Given the description of an element on the screen output the (x, y) to click on. 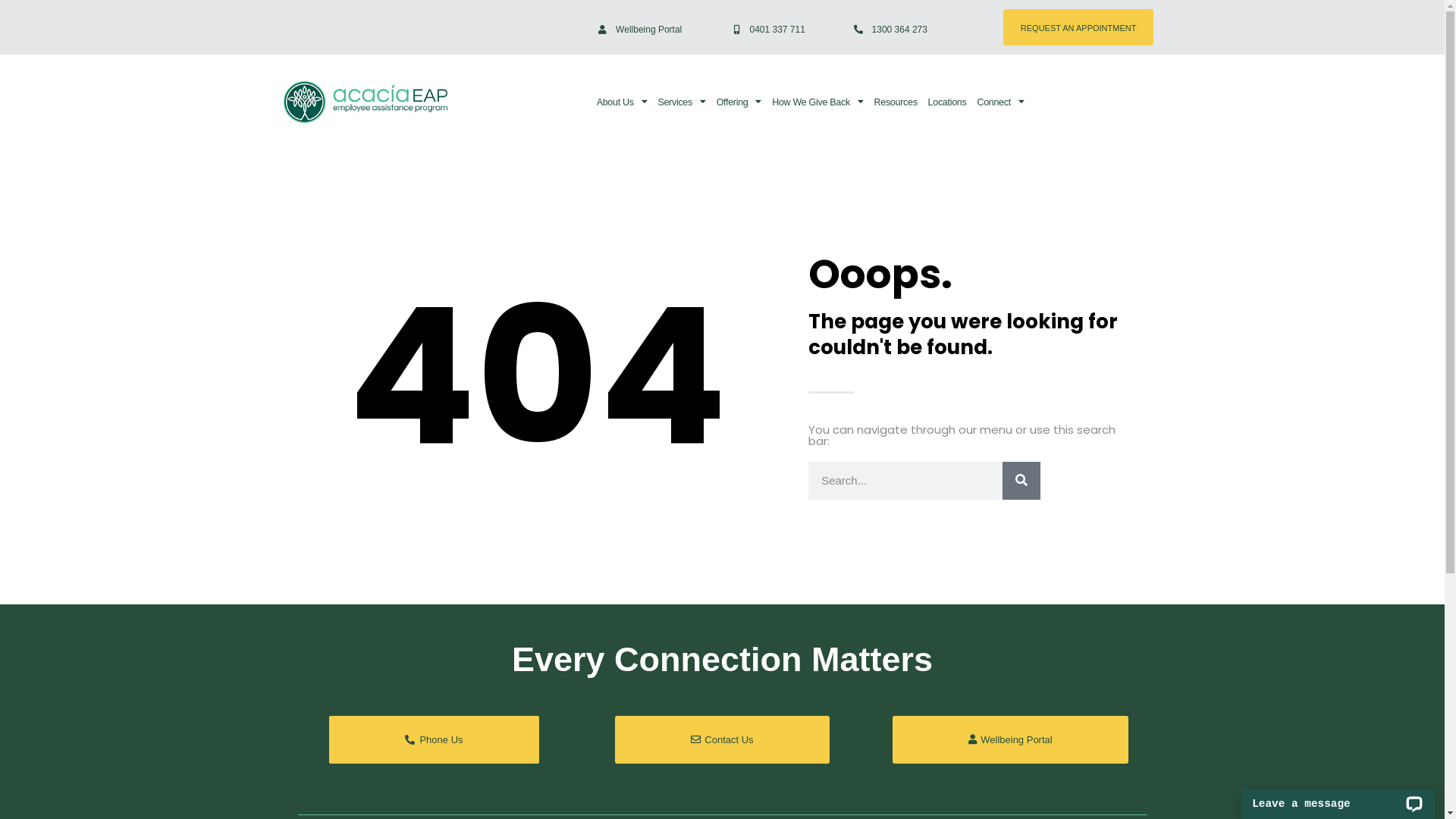
Phone Us Element type: text (433, 739)
About Us Element type: text (621, 101)
Resources Element type: text (895, 101)
Contact Us Element type: text (721, 739)
Offering Element type: text (739, 101)
1300 364 273 Element type: text (890, 27)
REQUEST AN APPOINTMENT Element type: text (1078, 27)
0401 337 711 Element type: text (769, 27)
How We Give Back Element type: text (817, 101)
Services Element type: text (681, 101)
Wellbeing Portal Element type: text (1009, 739)
Connect Element type: text (1000, 101)
Wellbeing Portal Element type: text (639, 27)
Locations Element type: text (947, 101)
